Given the description of an element on the screen output the (x, y) to click on. 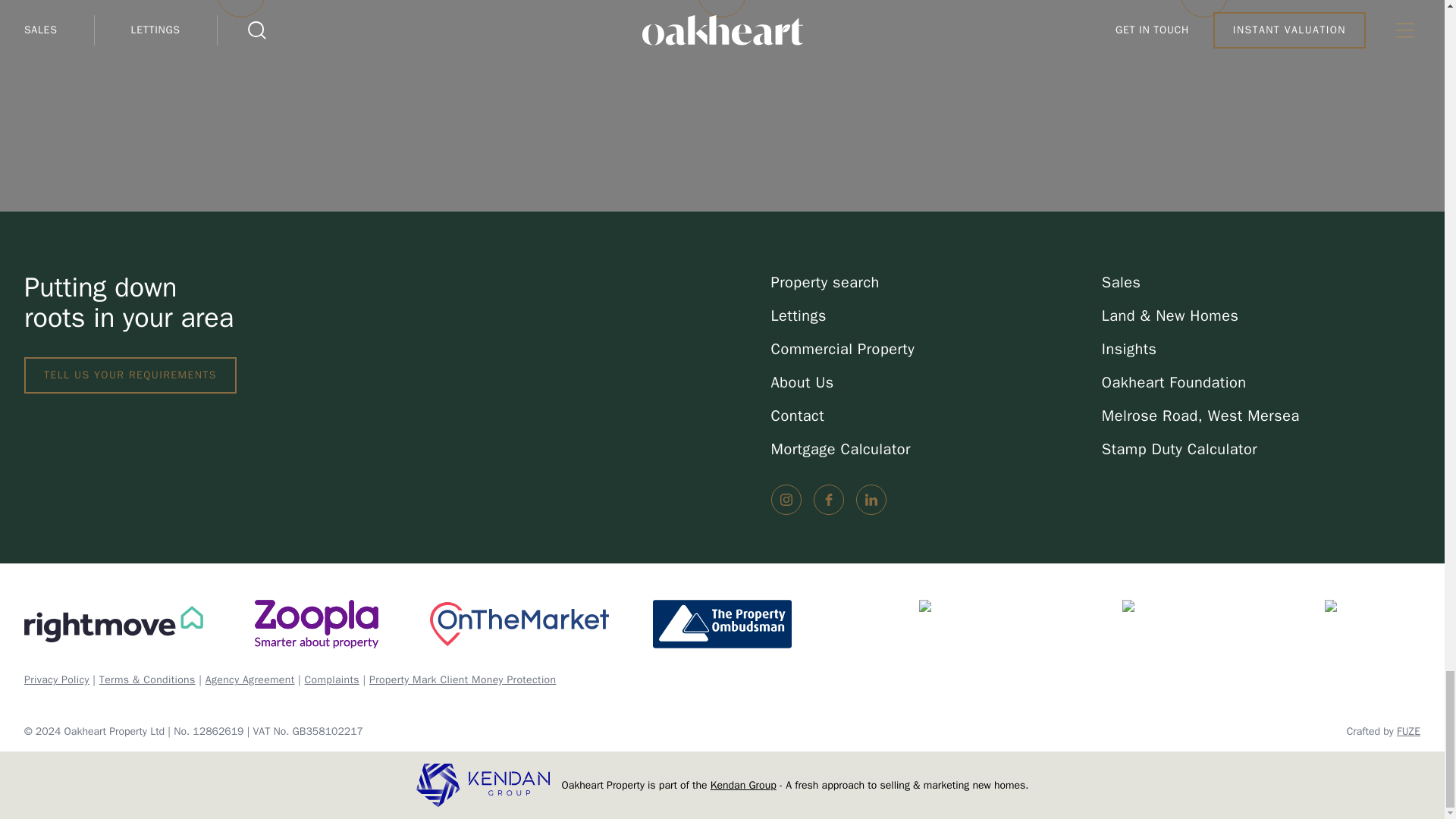
Lettings (929, 315)
Sell your home (240, 105)
TELL US YOUR REQUIREMENTS (129, 375)
Let your property (721, 105)
Property search (929, 282)
Commercial Property (929, 349)
Insights (1261, 349)
About Us (929, 382)
Sales (1261, 282)
